Given the description of an element on the screen output the (x, y) to click on. 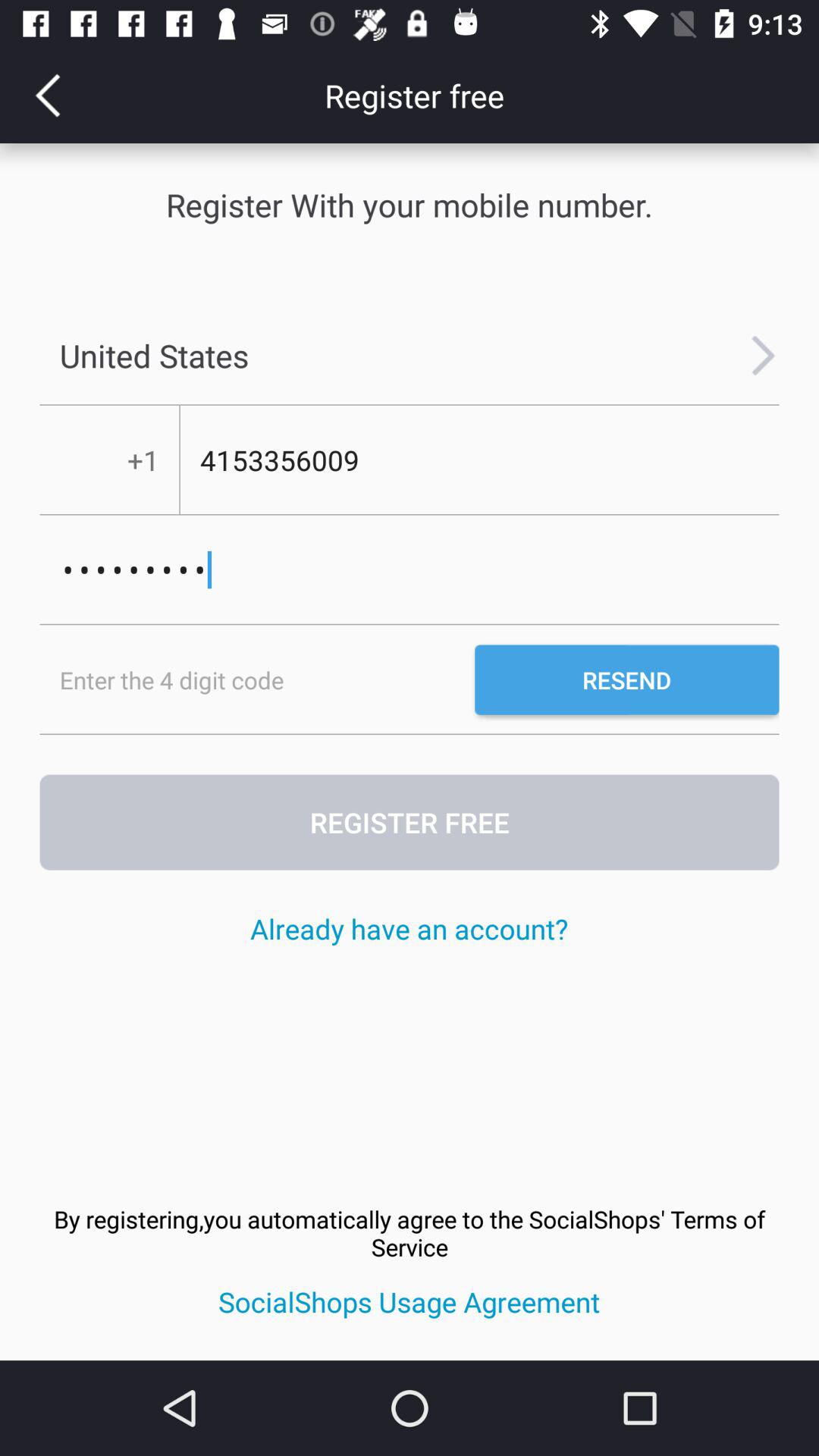
tap the item below the crowd3116 icon (256, 679)
